Given the description of an element on the screen output the (x, y) to click on. 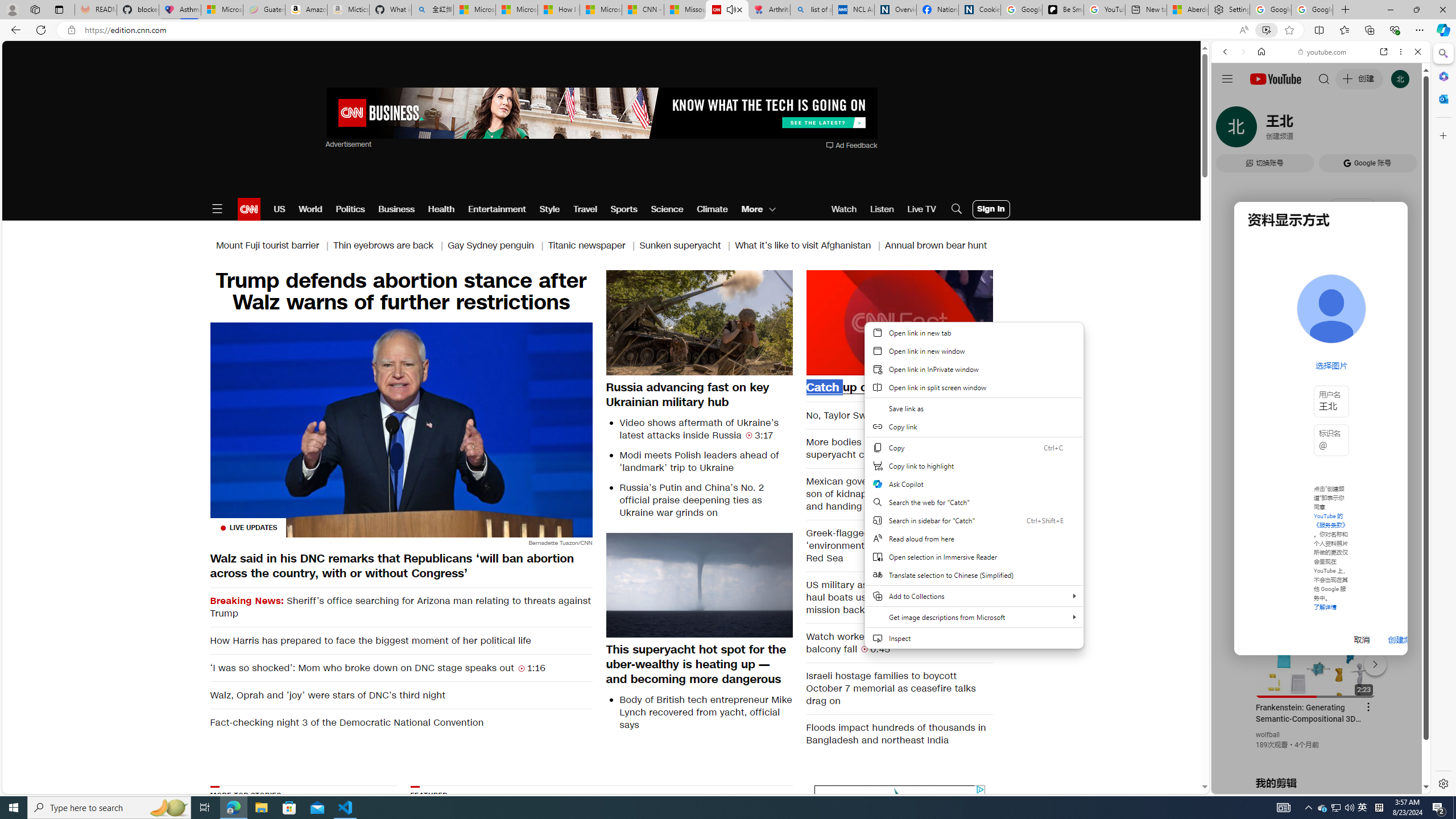
Sports (623, 209)
Titanic newspaper | (593, 245)
Forward 10 seconds (933, 321)
Russia advancing fast on key Ukrainian military hub (699, 394)
Pause (898, 322)
Enhance video (1266, 29)
Class: b_serphb (1404, 130)
Actions for this site (1371, 661)
list of asthma inhalers uk - Search (810, 9)
